Given the description of an element on the screen output the (x, y) to click on. 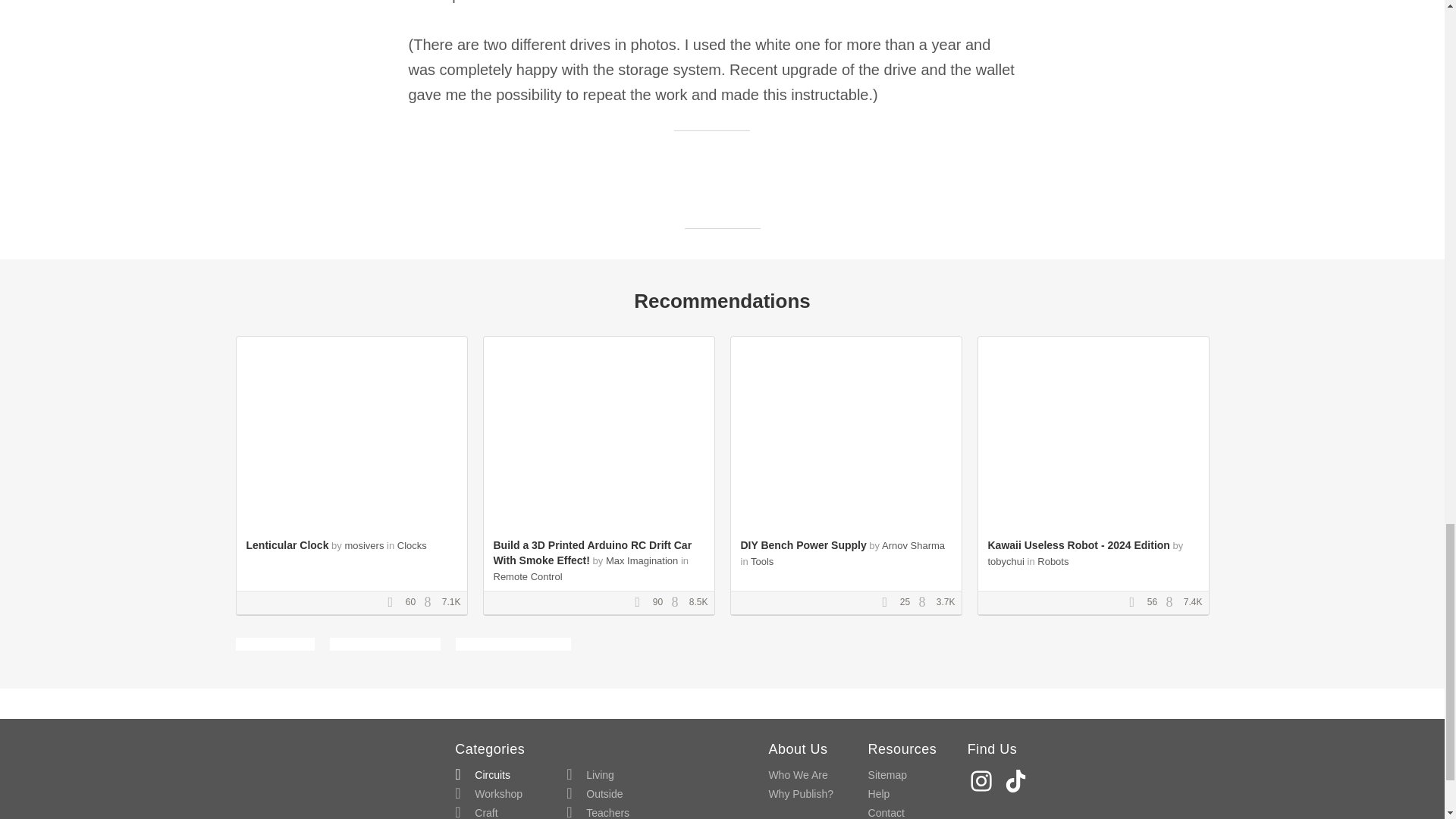
Workshop (488, 793)
mosivers (363, 545)
Views Count (925, 602)
Lenticular Clock (287, 544)
Views Count (431, 602)
Favorites Count (641, 602)
Robots (1052, 561)
Views Count (1173, 602)
Clocks (411, 545)
Tools (762, 561)
tobychui (1005, 561)
DIY Bench Power Supply (802, 544)
Views Count (678, 602)
TikTok (1018, 780)
Circuits (482, 774)
